Given the description of an element on the screen output the (x, y) to click on. 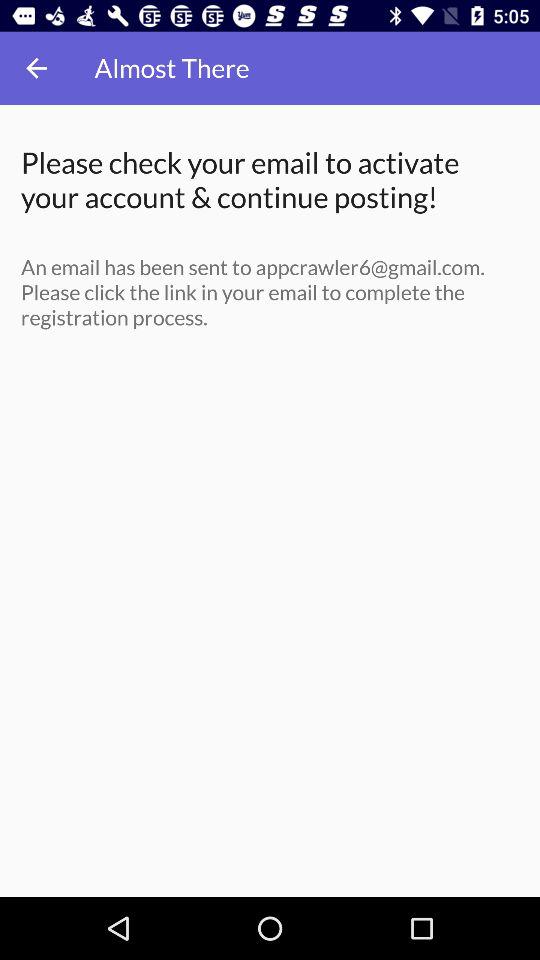
turn off the item next to the almost there (36, 68)
